Given the description of an element on the screen output the (x, y) to click on. 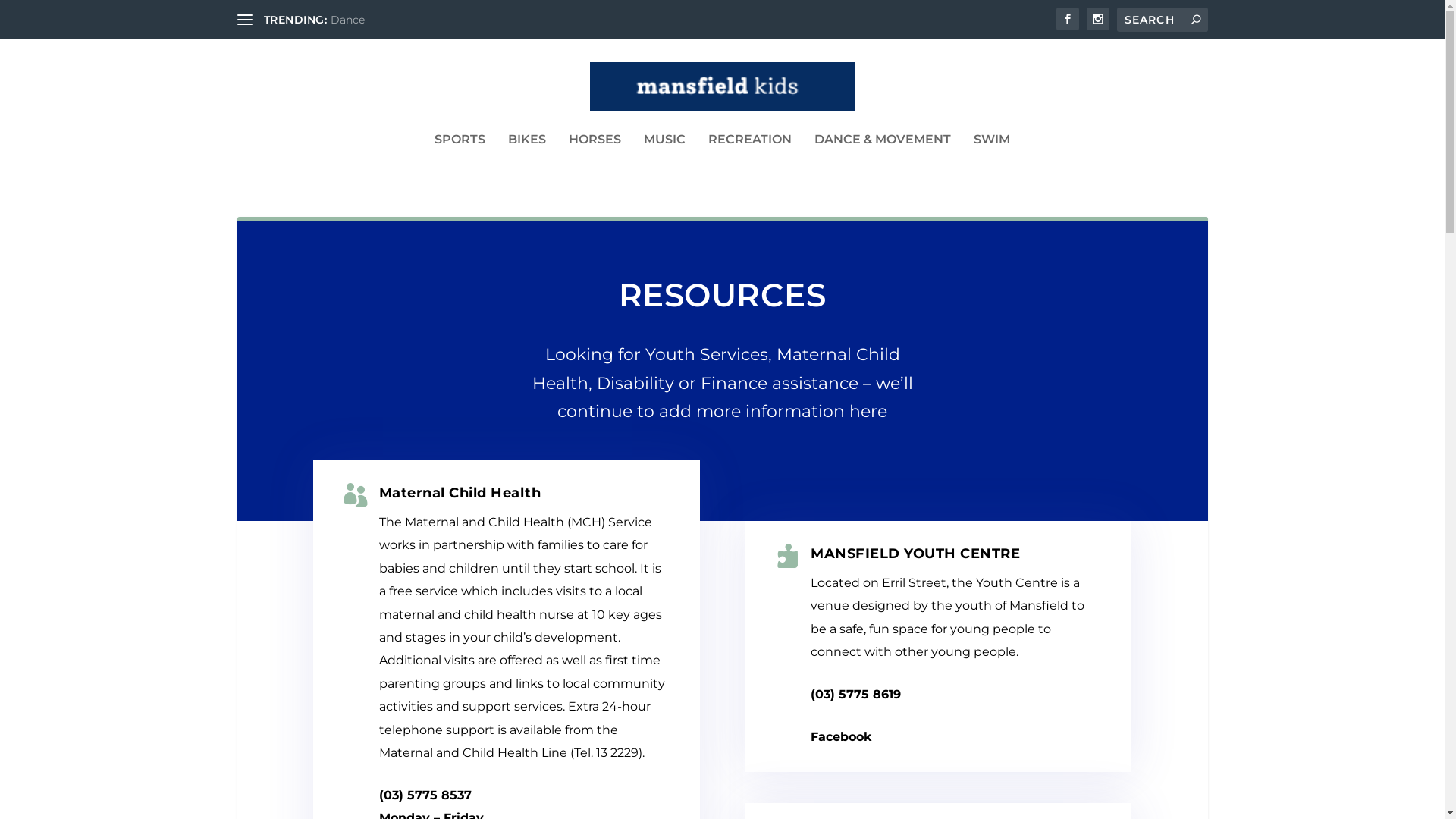
Dance Element type: text (347, 19)
SPORTS Element type: text (459, 159)
Maternal Child Health Element type: text (460, 492)
MANSFIELD YOUTH CENTRE Element type: text (914, 553)
DANCE & MOVEMENT Element type: text (882, 159)
Search Element type: text (31, 14)
Facebook Element type: text (841, 736)
Search for: Element type: hover (1161, 19)
RECREATION Element type: text (749, 159)
HORSES Element type: text (594, 159)
BIKES Element type: text (527, 159)
MUSIC Element type: text (664, 159)
SWIM Element type: text (991, 159)
